Given the description of an element on the screen output the (x, y) to click on. 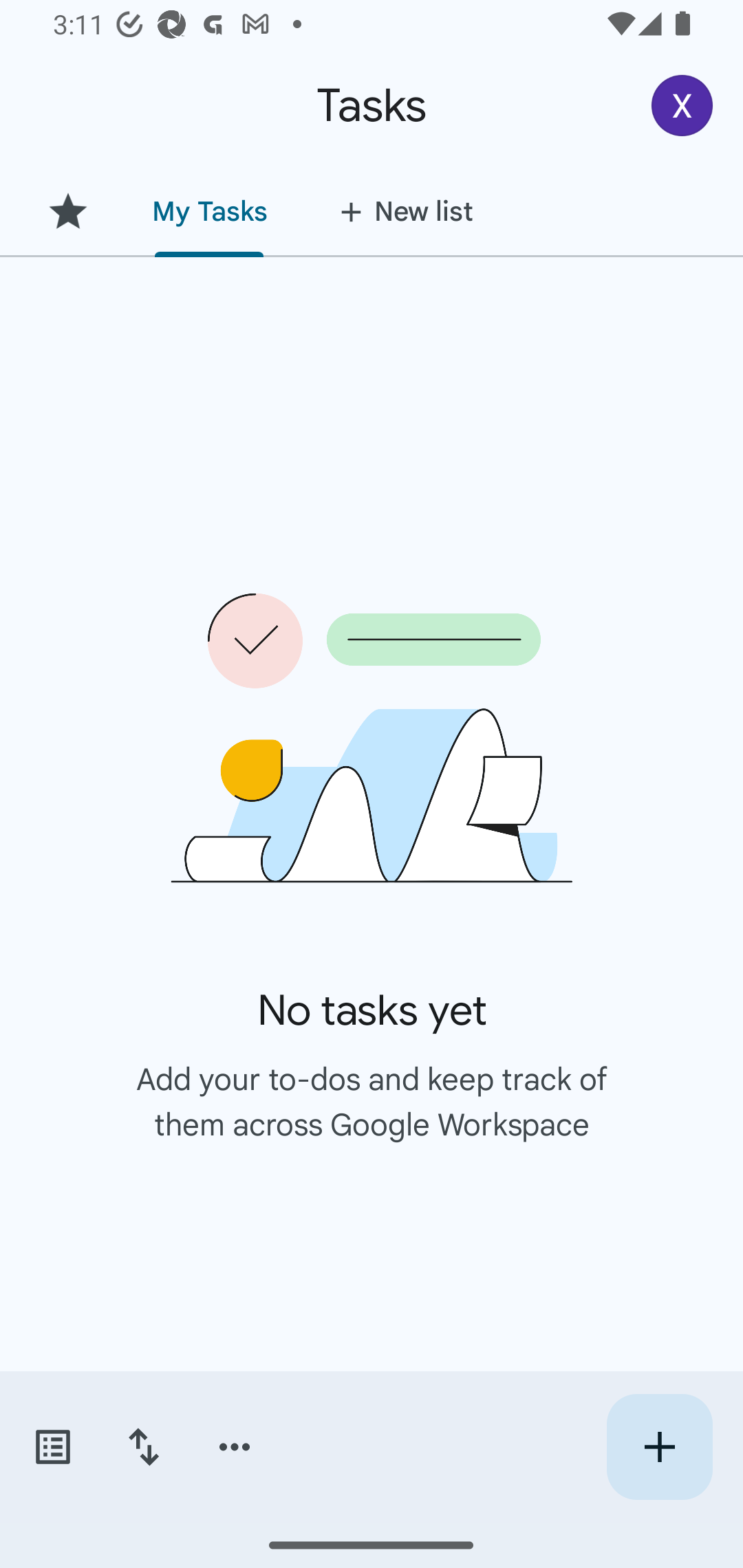
Starred (67, 211)
New list (400, 211)
Switch task lists (52, 1447)
Create new task (659, 1446)
Change sort order (143, 1446)
More options (234, 1446)
